Given the description of an element on the screen output the (x, y) to click on. 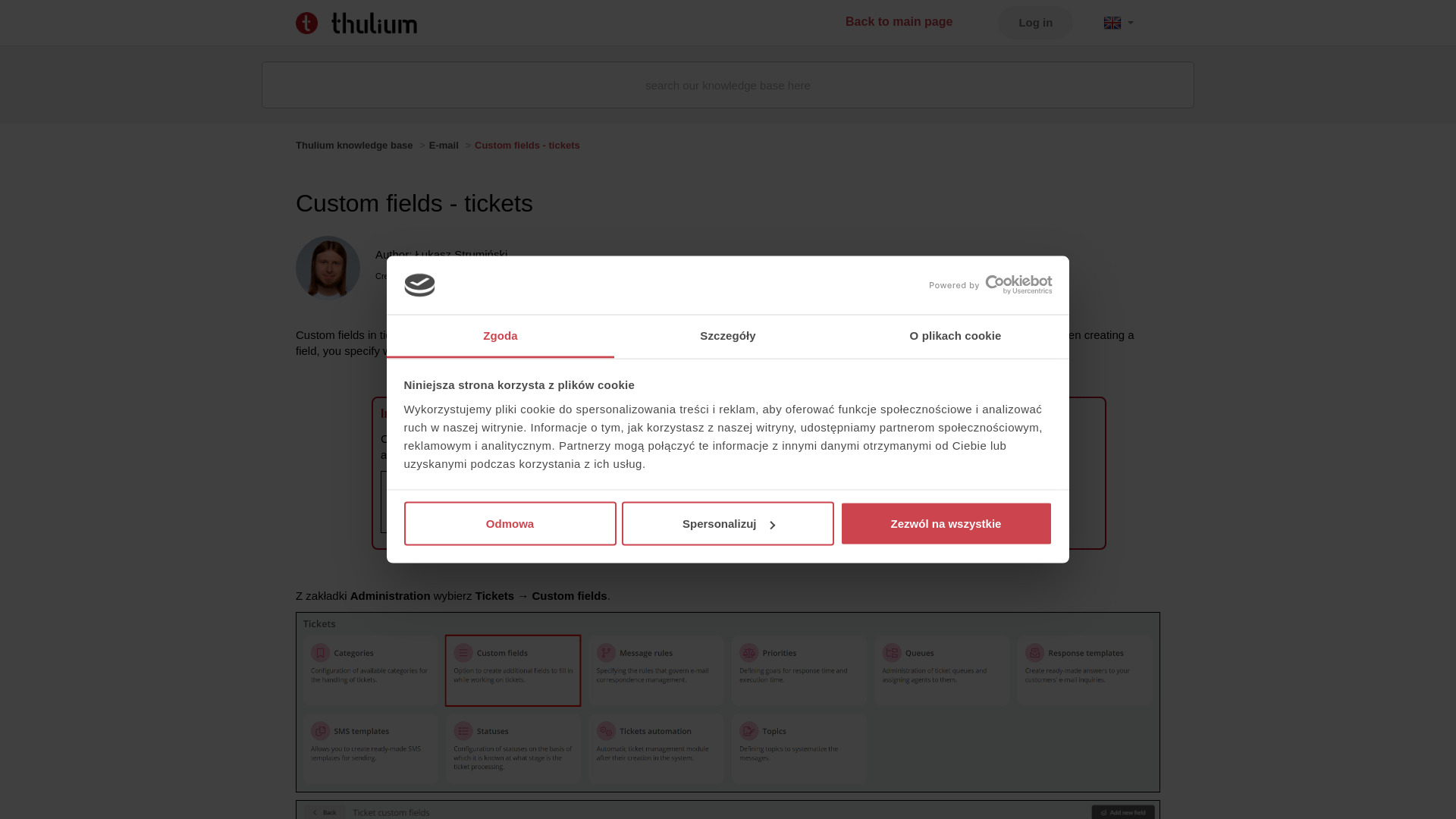
2023-05-09 09:30:06 (430, 275)
2023-05-09 09:30:06 (514, 275)
O plikach cookie (954, 335)
Zgoda (500, 335)
